Given the description of an element on the screen output the (x, y) to click on. 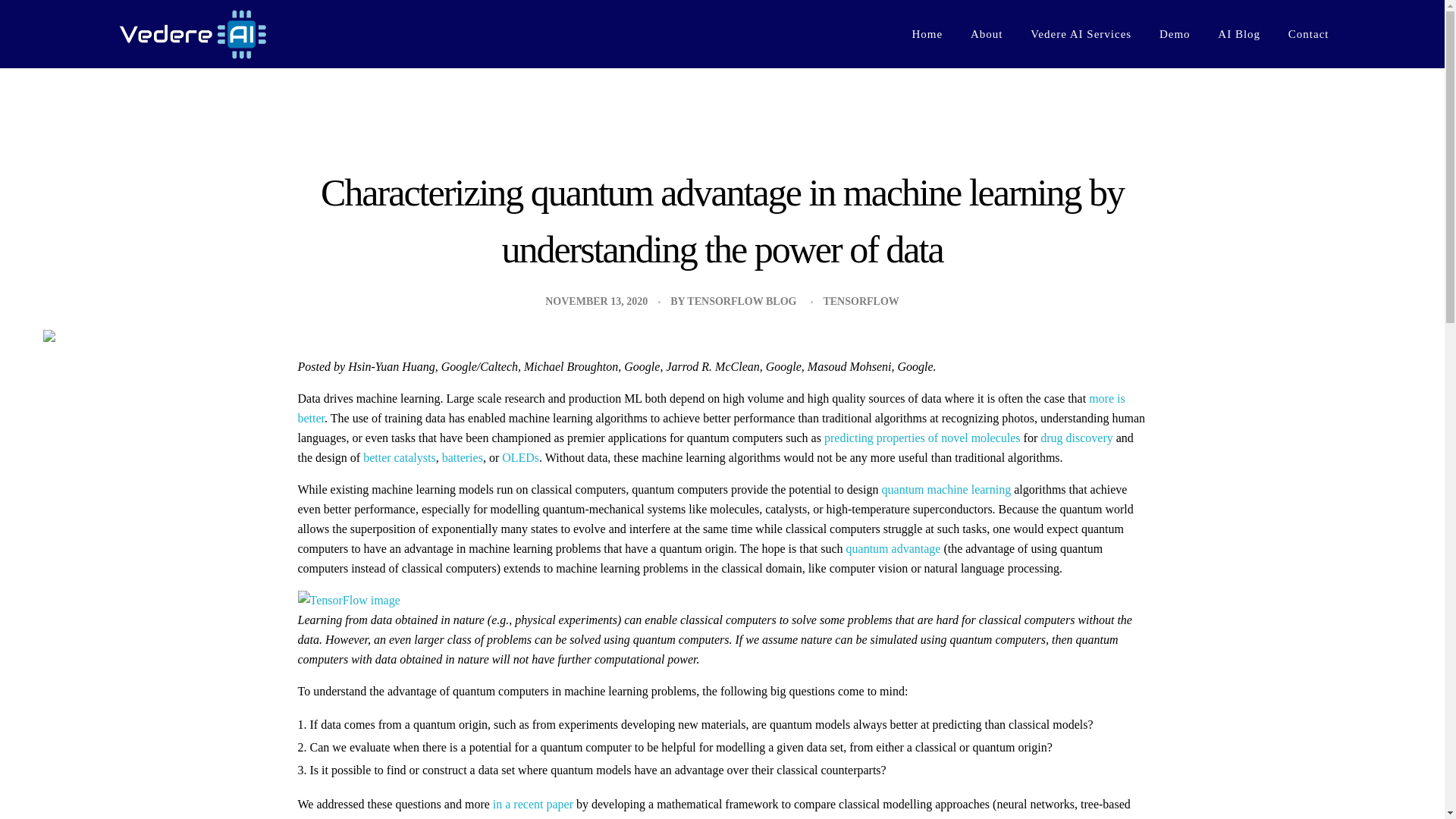
batteries (462, 457)
quantum machine learning (946, 489)
About (986, 20)
Demo (1174, 25)
predicting properties of novel molecules (922, 437)
View all posts by TensorFlow Blog (741, 301)
more is better (710, 408)
Vedere AI Services (1080, 22)
TENSORFLOW BLOG (741, 301)
OLEDs (520, 457)
